Given the description of an element on the screen output the (x, y) to click on. 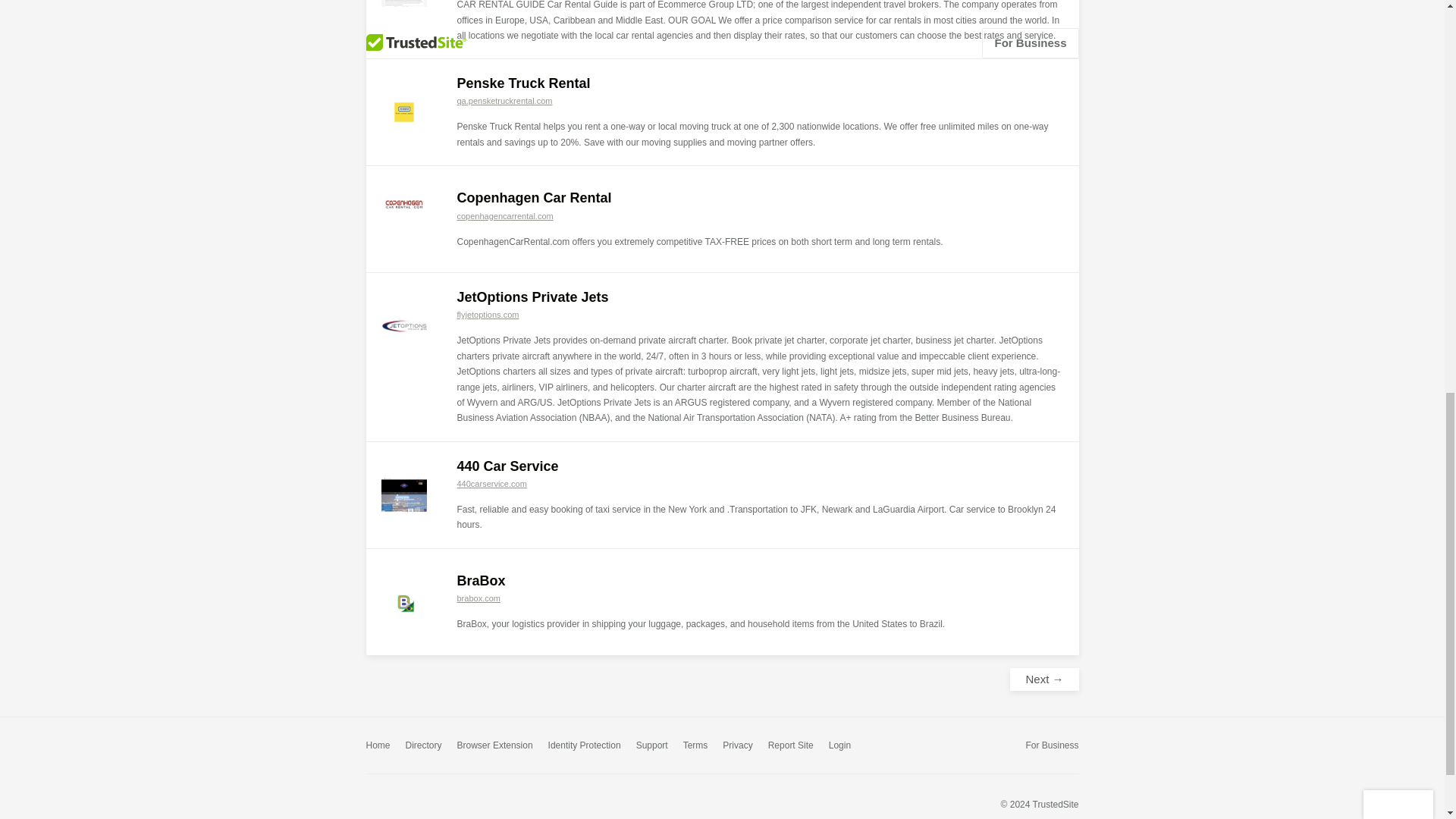
440 Car Service (507, 466)
Directory (424, 745)
Penske Truck Rental (523, 83)
440carservice.com (491, 483)
Copenhagen Car Rental (534, 197)
TrustedSite Certified (399, 803)
copenhagencarrental.com (505, 215)
Home (377, 745)
Support (652, 745)
JetOptions Private Jets (532, 296)
